Given the description of an element on the screen output the (x, y) to click on. 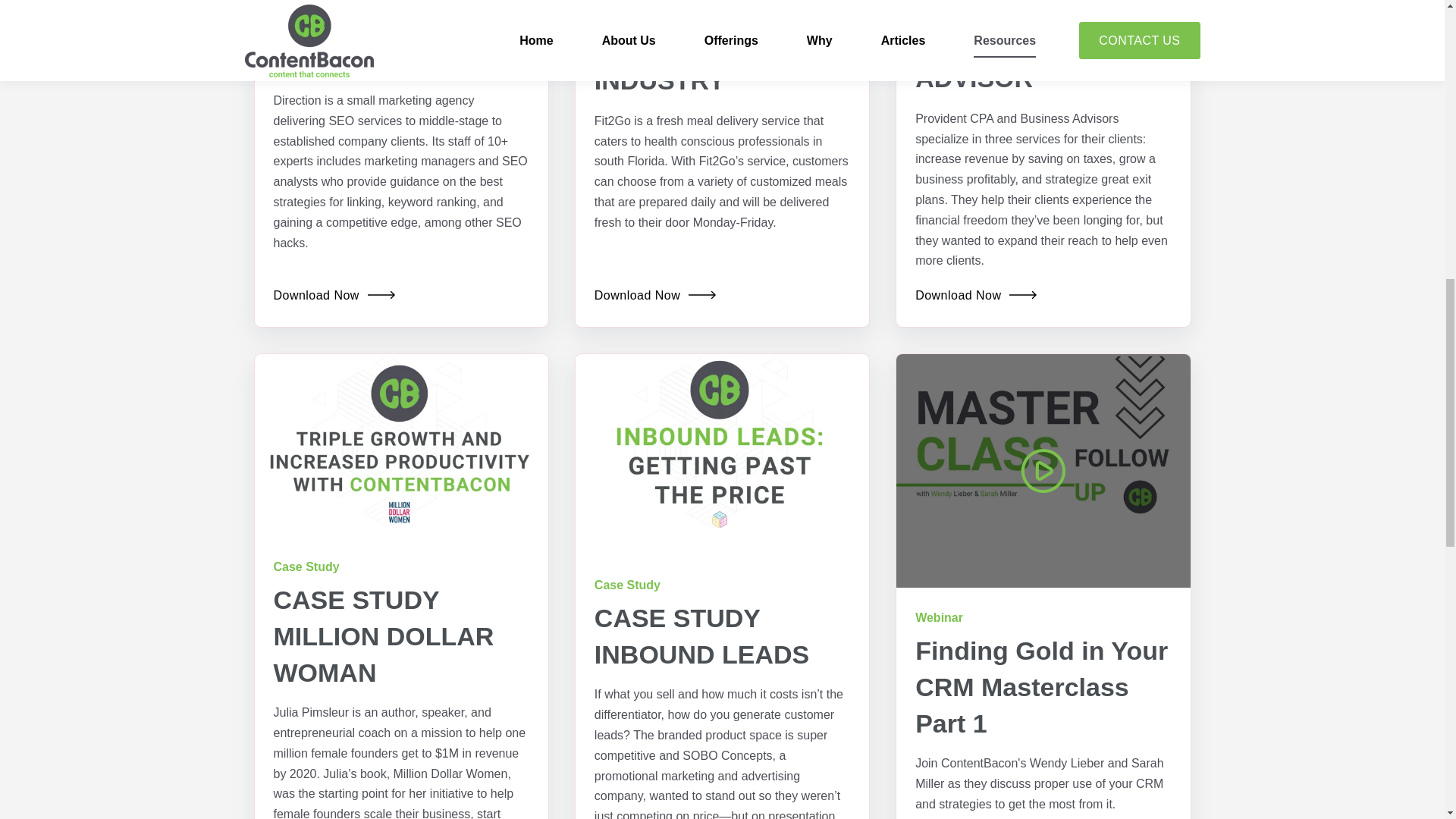
Download Now (333, 296)
Download Now (975, 296)
Download Now (655, 296)
